Given the description of an element on the screen output the (x, y) to click on. 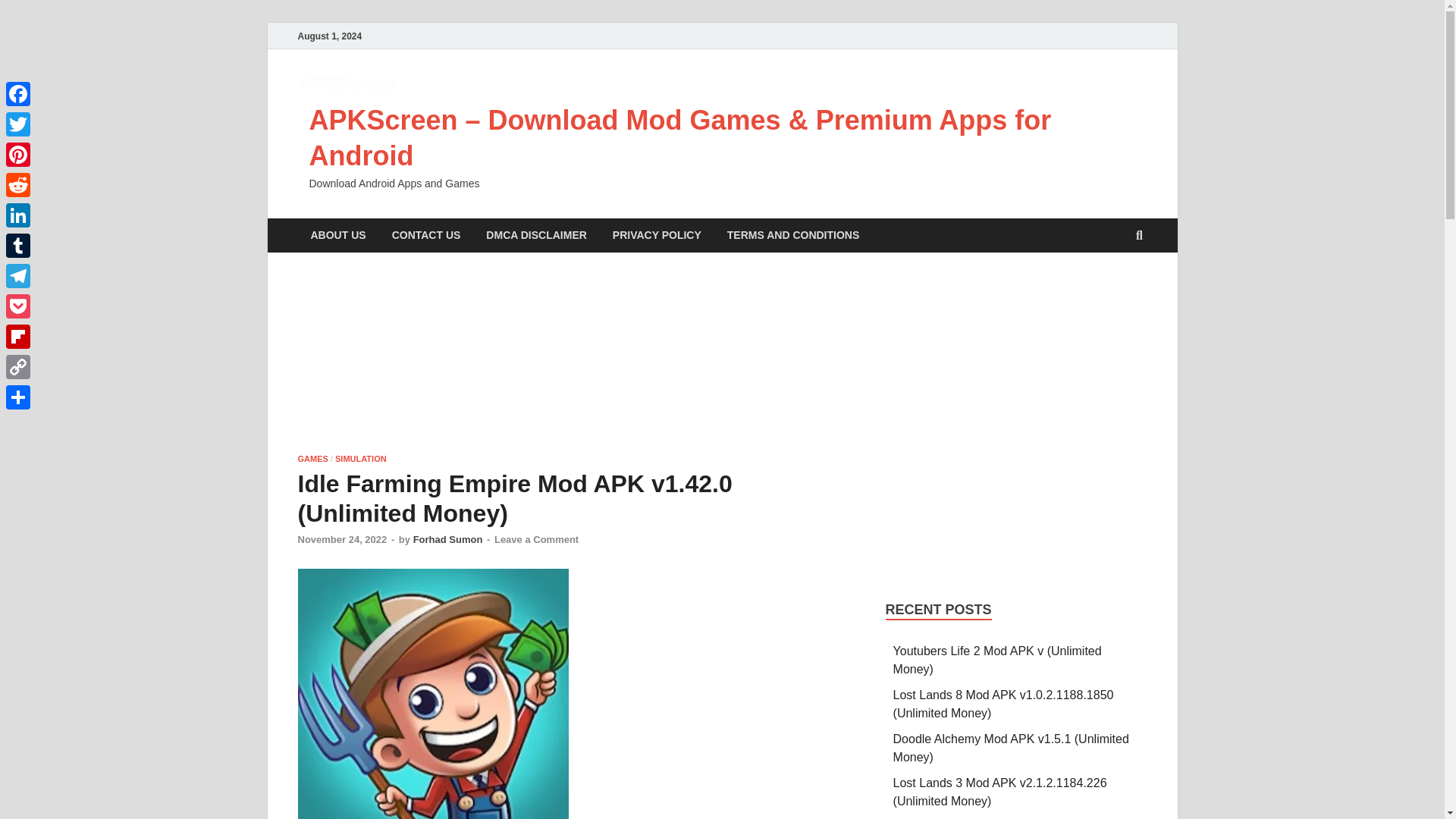
Leave a Comment (536, 539)
TERMS AND CONDITIONS (793, 235)
ABOUT US (337, 235)
PRIVACY POLICY (656, 235)
DMCA DISCLAIMER (535, 235)
SIMULATION (360, 458)
GAMES (312, 458)
CONTACT US (426, 235)
November 24, 2022 (342, 539)
Forhad Sumon (448, 539)
